Given the description of an element on the screen output the (x, y) to click on. 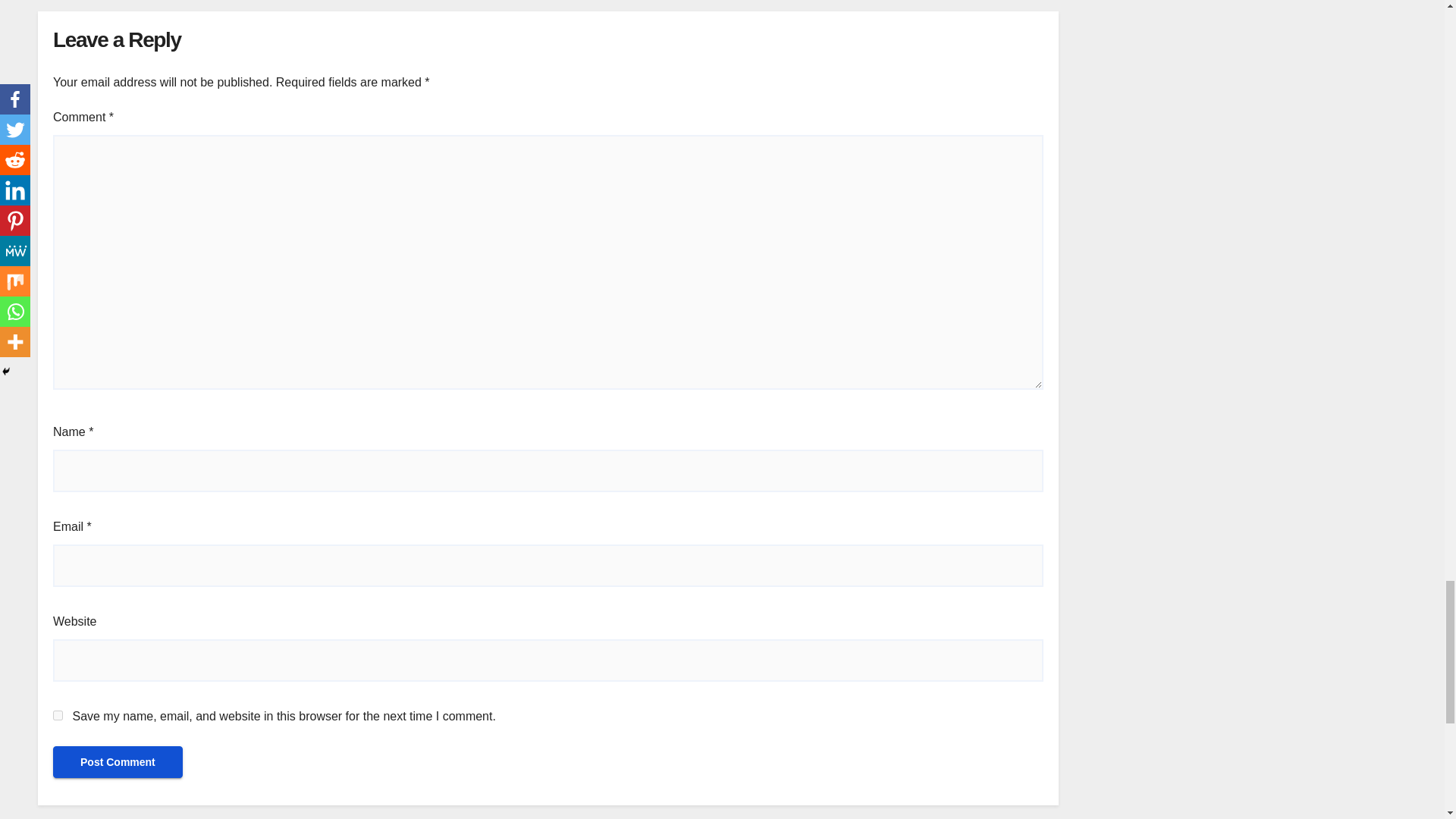
yes (57, 715)
Post Comment (117, 762)
